Given the description of an element on the screen output the (x, y) to click on. 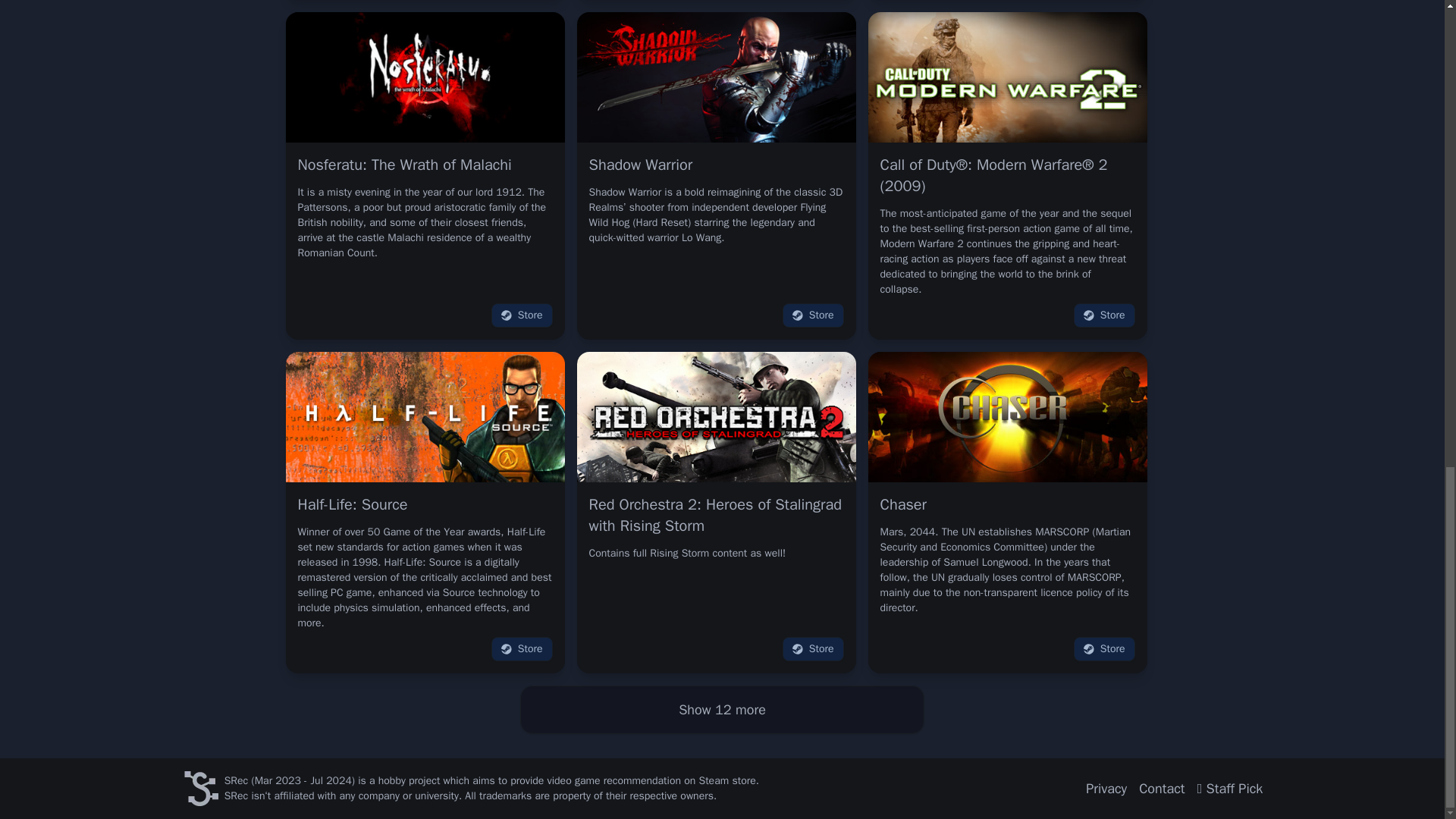
Store (813, 315)
Nosferatu: The Wrath of Malachi (404, 165)
Store (521, 315)
Shadow Warrior (640, 165)
